Given the description of an element on the screen output the (x, y) to click on. 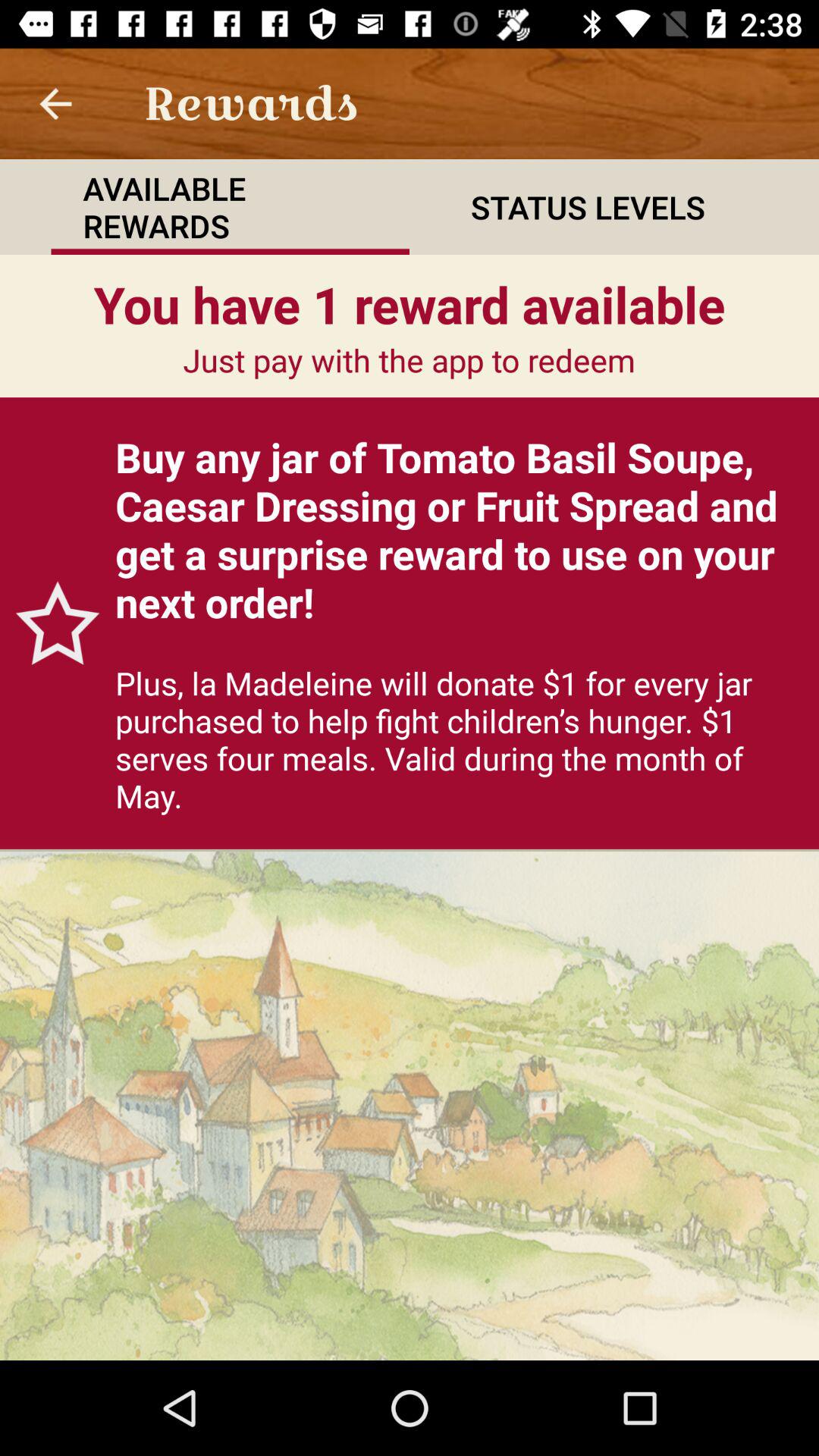
flip until the buy any jar (459, 529)
